Given the description of an element on the screen output the (x, y) to click on. 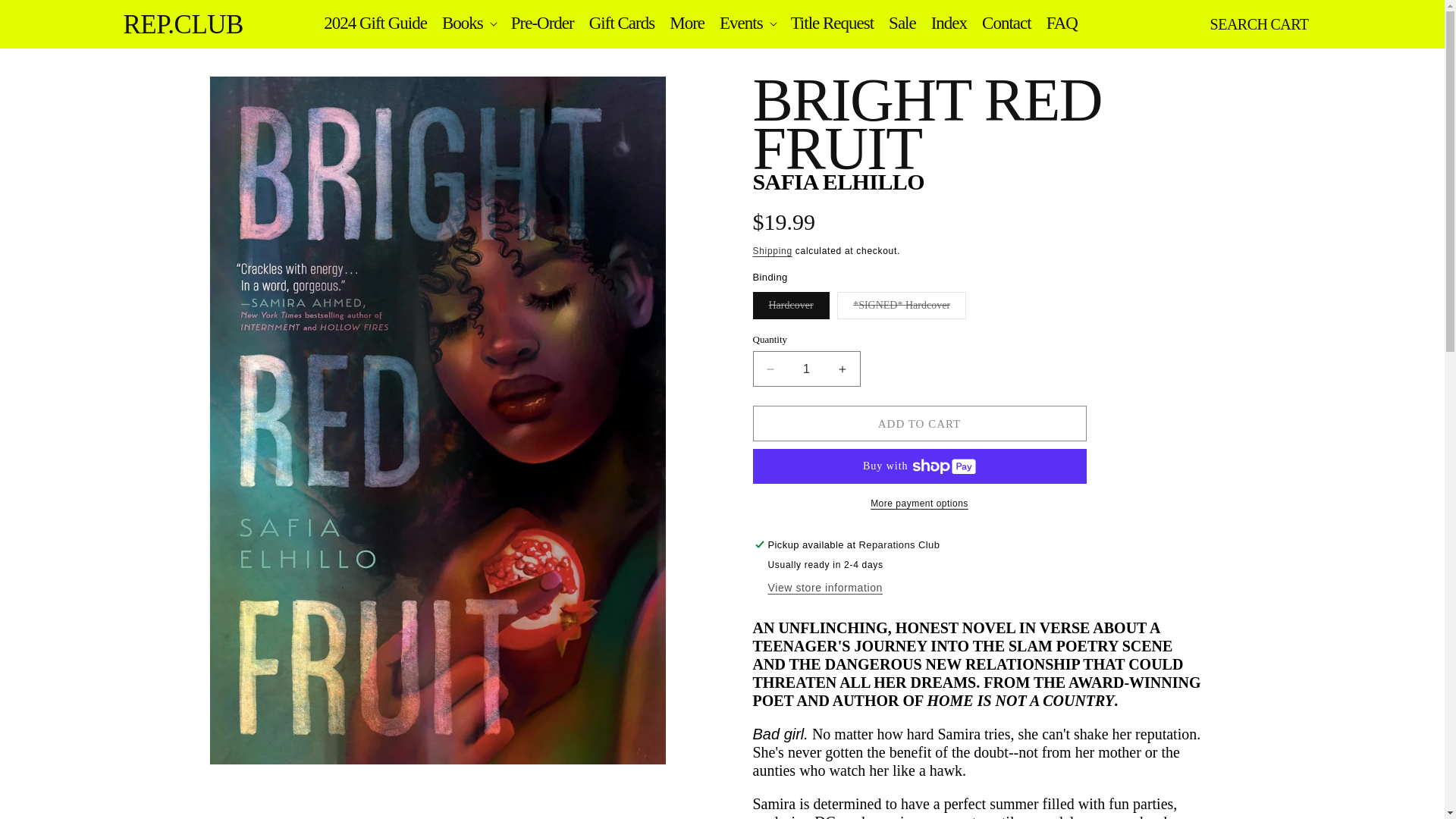
1 (806, 368)
Safia Elhillo (837, 181)
Skip to content (45, 17)
